Given the description of an element on the screen output the (x, y) to click on. 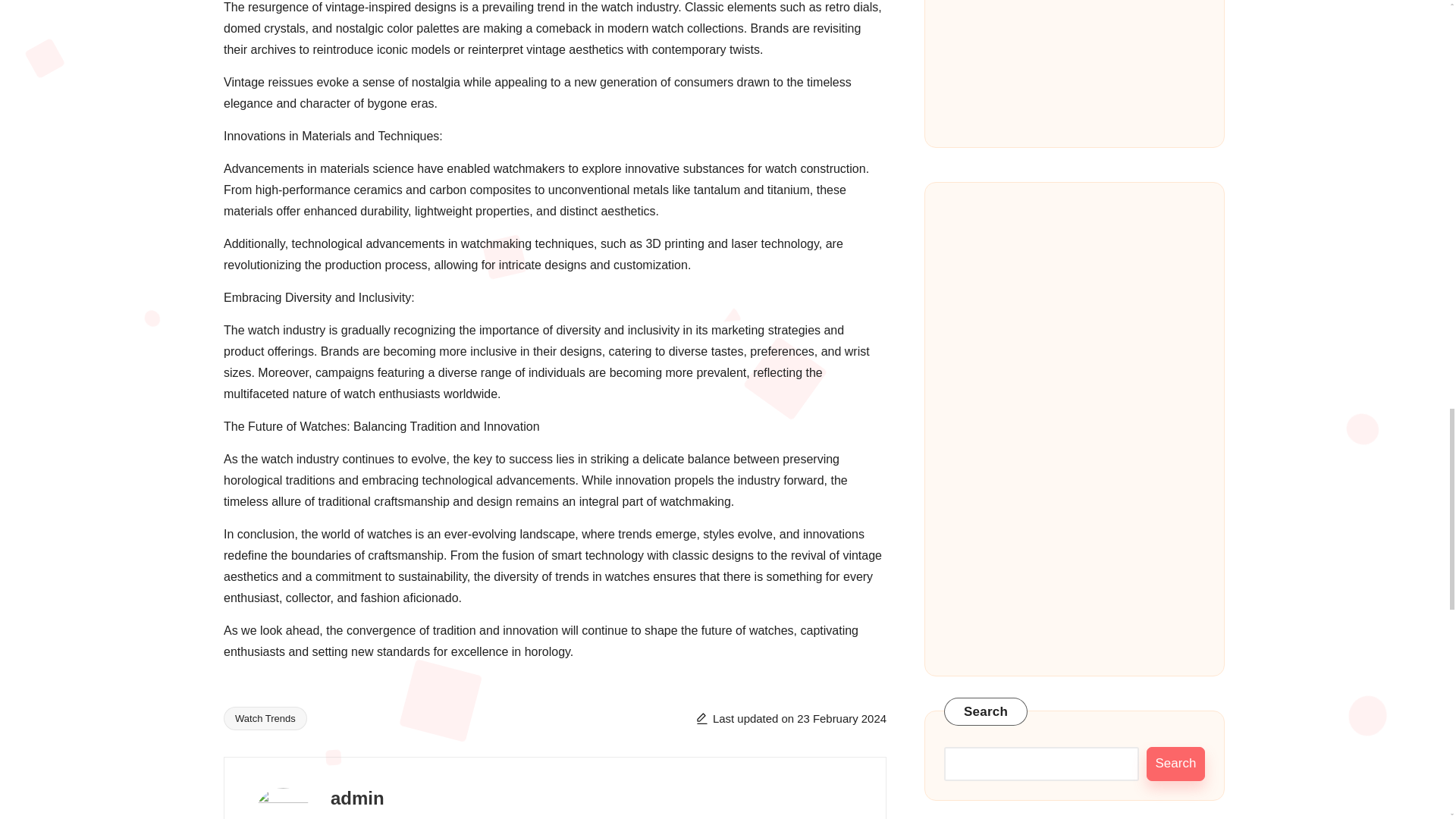
Watch Trends (265, 718)
